Given the description of an element on the screen output the (x, y) to click on. 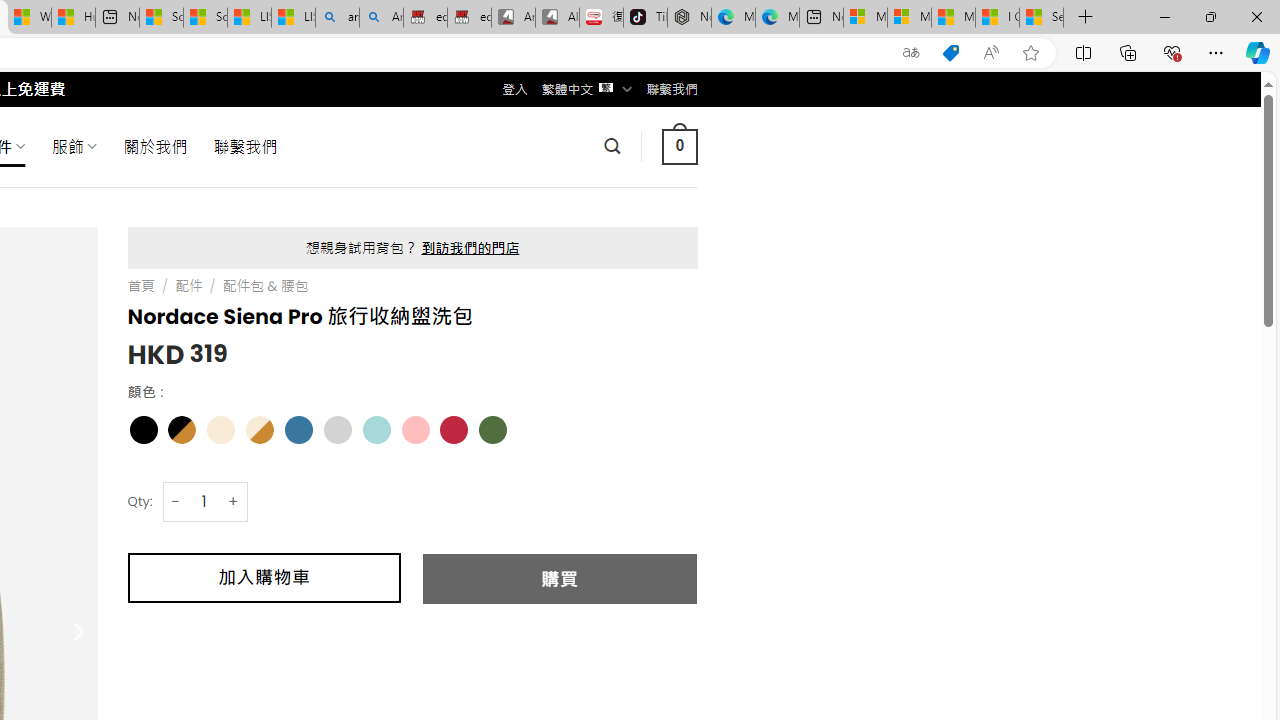
I Gained 20 Pounds of Muscle in 30 Days! | Watch (996, 17)
Microsoft account | Privacy (909, 17)
Show translate options (910, 53)
